Given the description of an element on the screen output the (x, y) to click on. 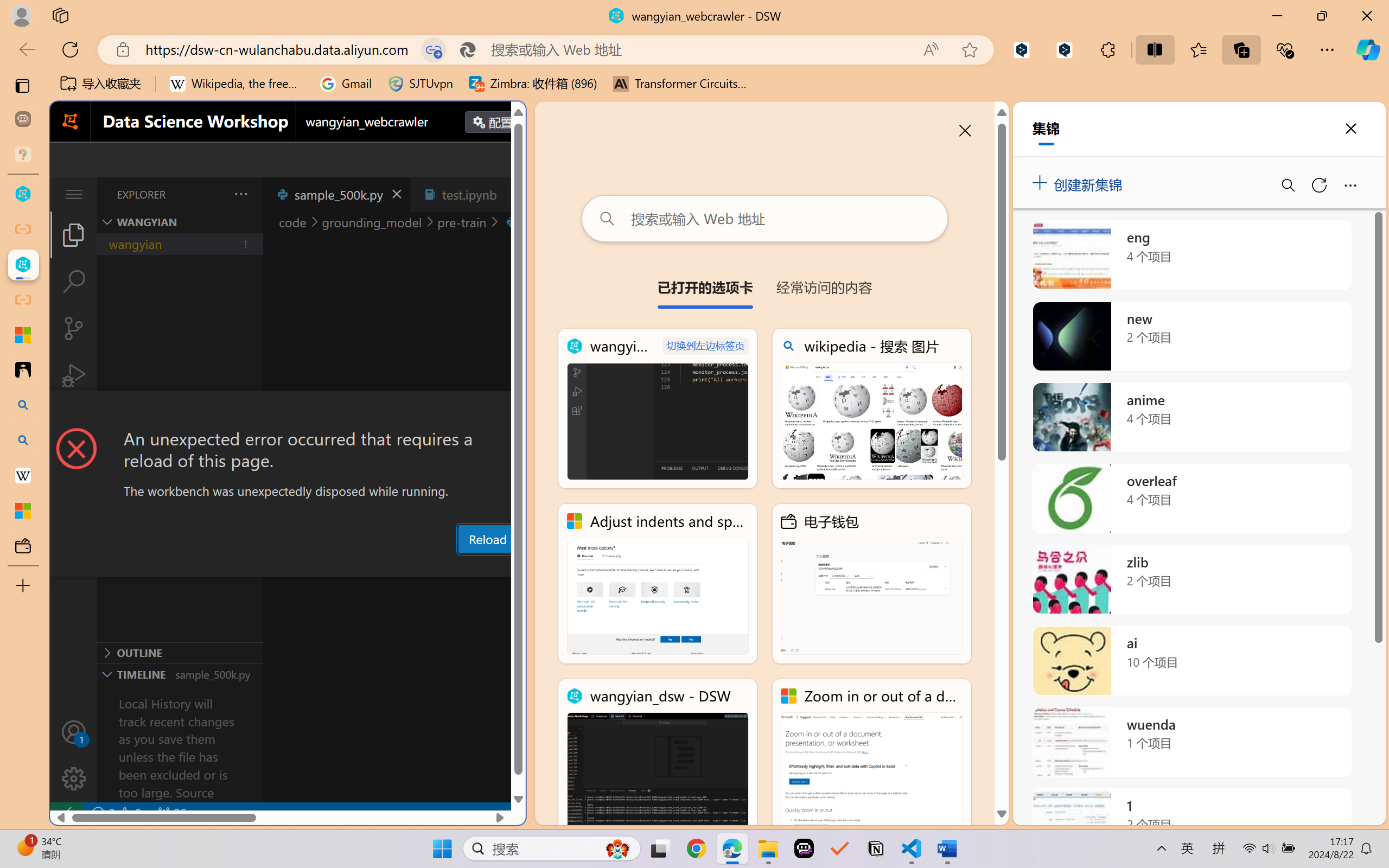
Debug Console (Ctrl+Shift+Y) (463, 565)
Explorer (Ctrl+Shift+E) (73, 234)
wangyian_dsw - DSW (657, 758)
Transformer Circuits Thread (680, 83)
Close Dialog (520, 410)
Reload (486, 538)
Source Control (Ctrl+Shift+G) (73, 328)
